Given the description of an element on the screen output the (x, y) to click on. 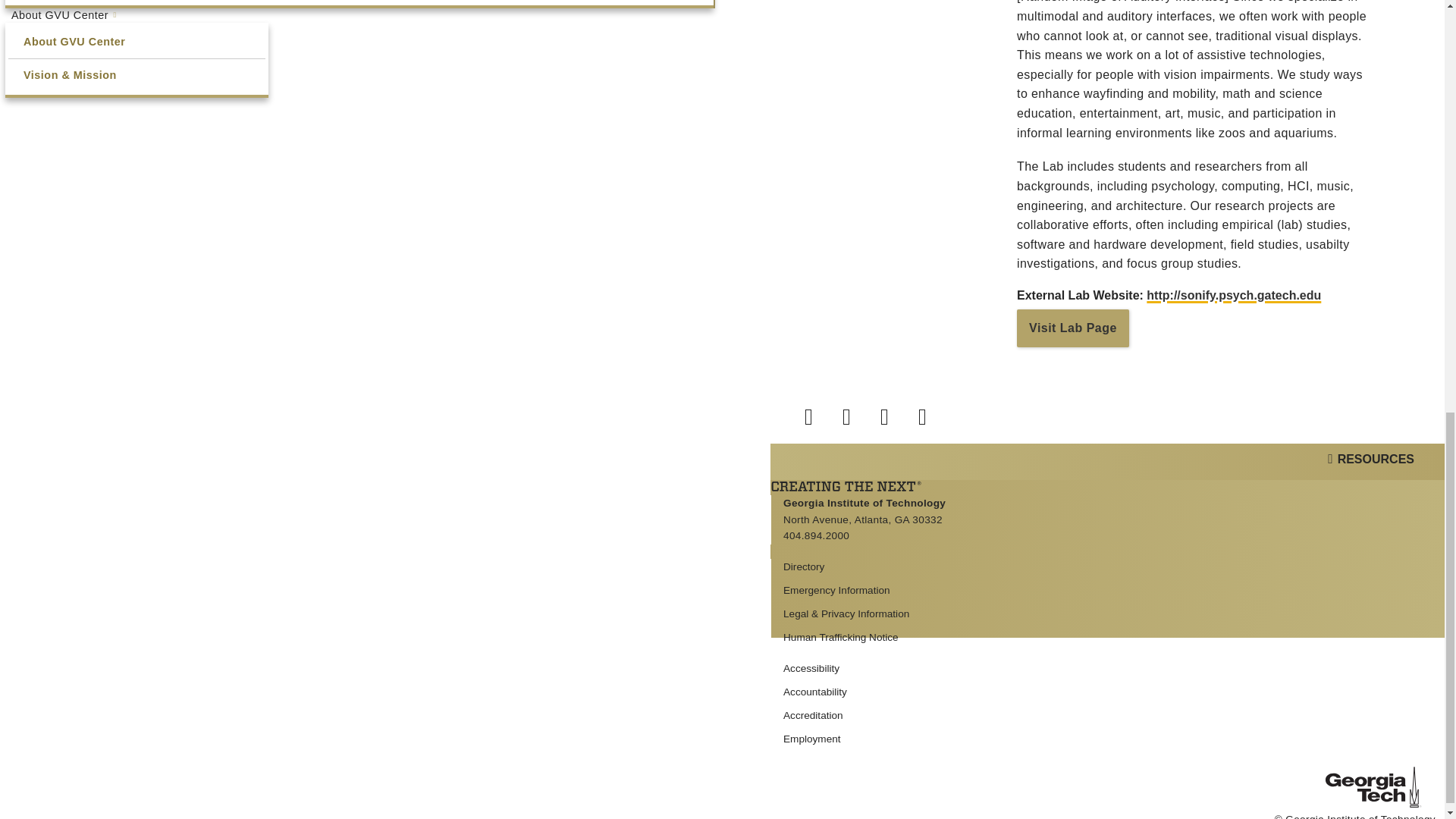
Twitter (857, 413)
Visit Lab Page (1072, 328)
About GVU Center (136, 42)
Facebook (819, 413)
About GVU Center (136, 15)
